Given the description of an element on the screen output the (x, y) to click on. 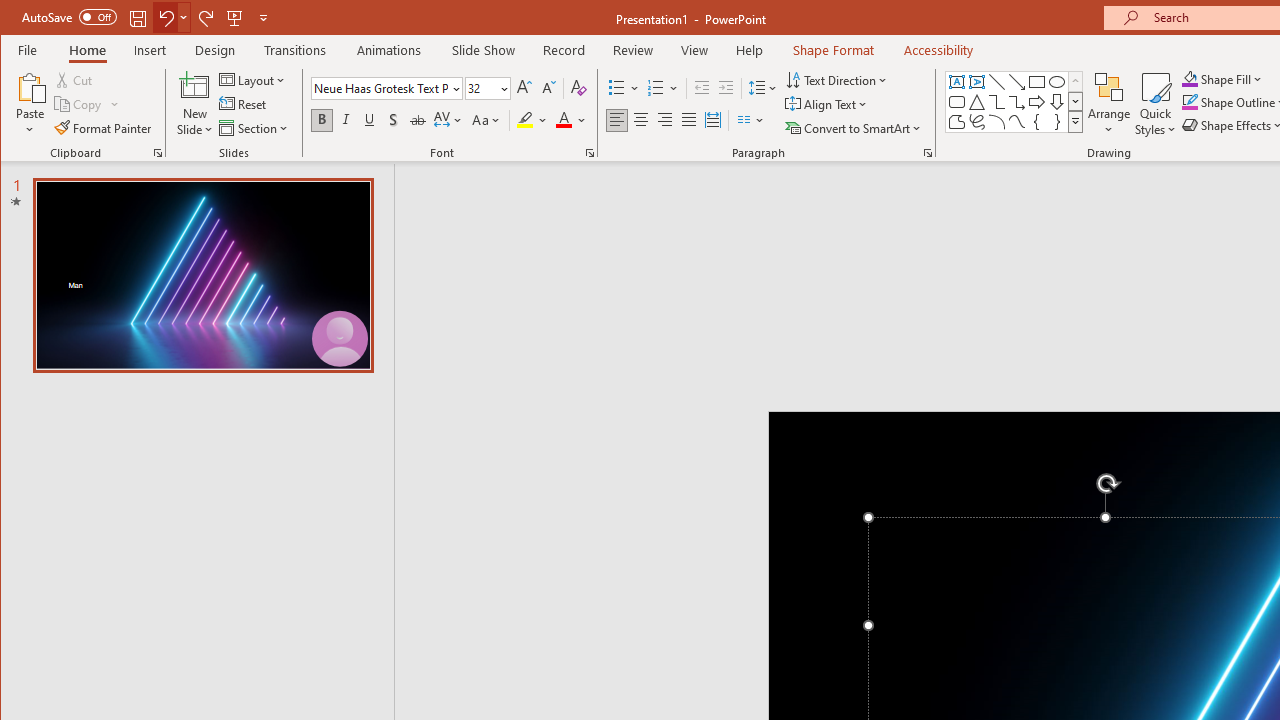
Left Brace (1036, 121)
Font (387, 88)
Numbering (663, 88)
Justify (689, 119)
Arrange (1108, 104)
Align Right (664, 119)
Bold (321, 119)
Increase Indent (726, 88)
Text Highlight Color (532, 119)
Align Text (828, 103)
Decrease Indent (701, 88)
